Given the description of an element on the screen output the (x, y) to click on. 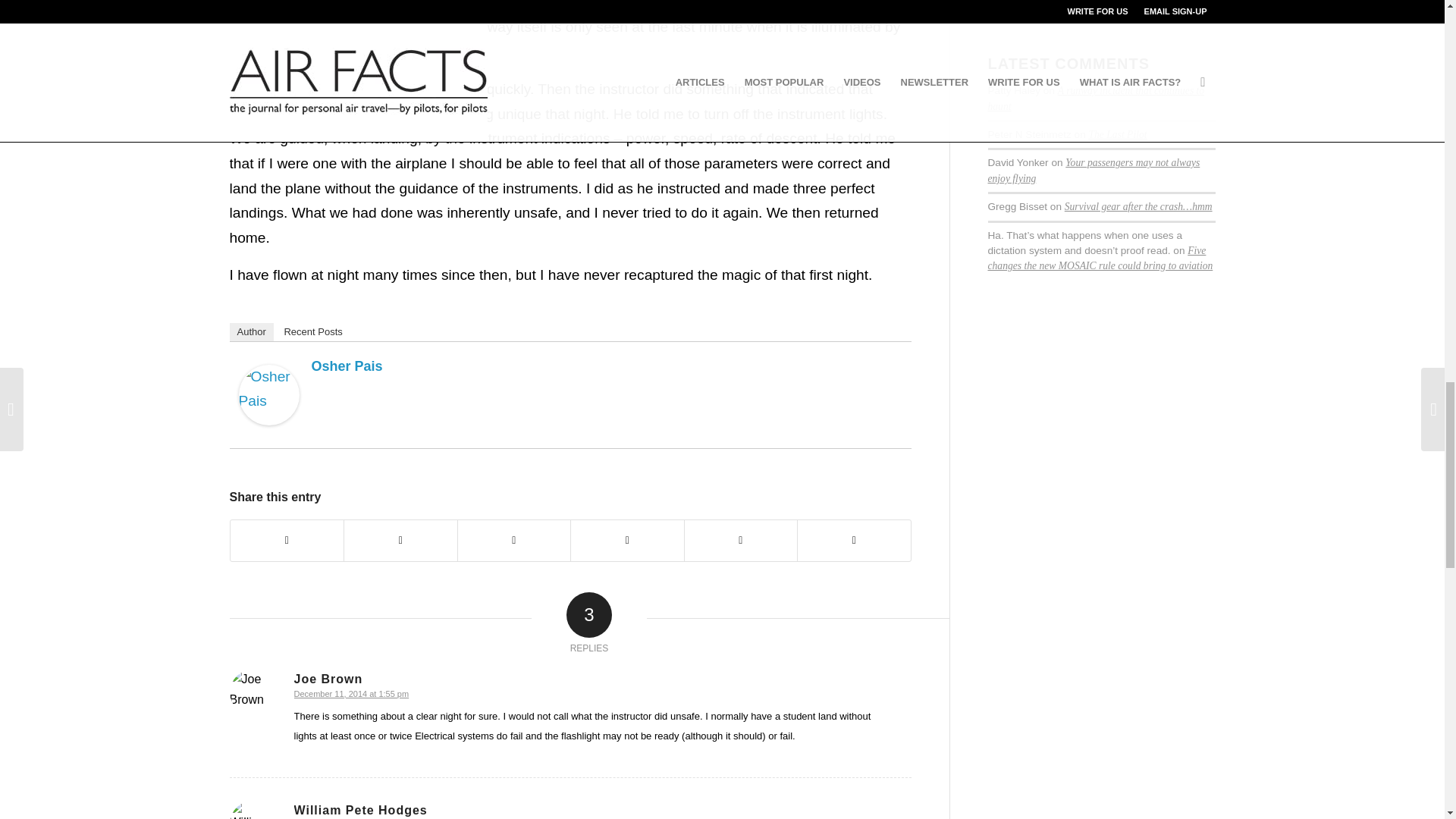
Recent Posts (312, 331)
Osher Pais (346, 365)
Author (250, 331)
